Given the description of an element on the screen output the (x, y) to click on. 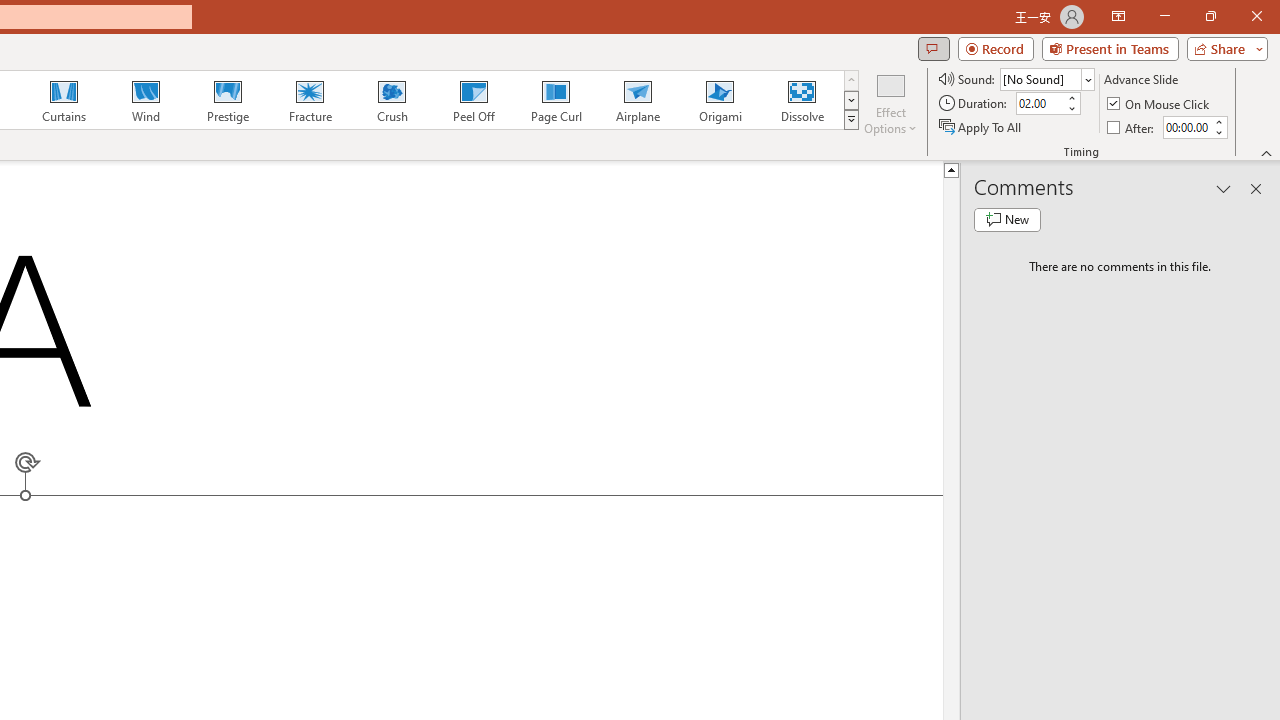
Prestige (227, 100)
Apply To All (981, 126)
Wind (145, 100)
Duration (1039, 103)
Crush (391, 100)
